Given the description of an element on the screen output the (x, y) to click on. 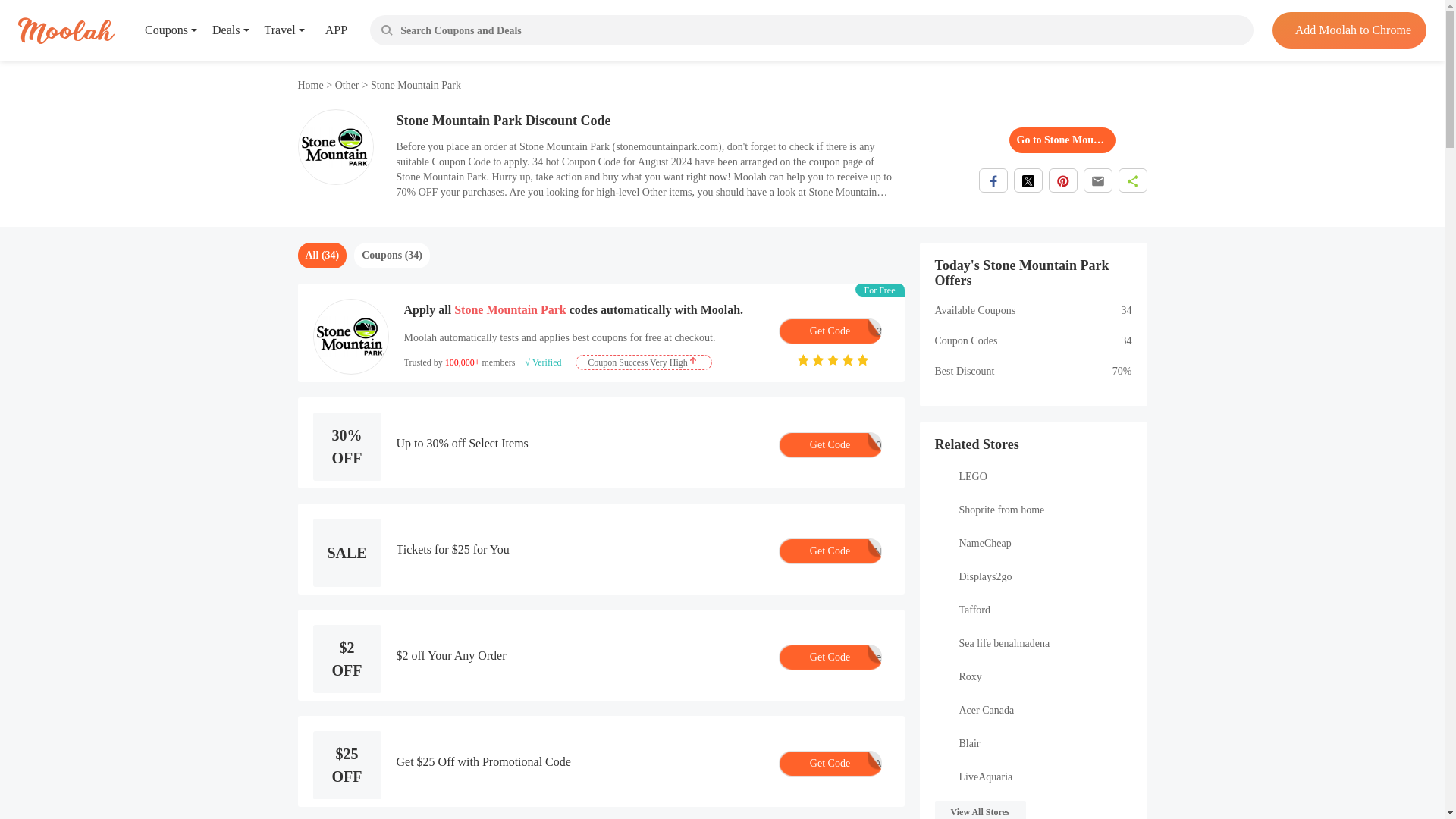
Other (346, 84)
Add Moolah to Chrome (1348, 30)
APP (324, 30)
Go to Stone Mountain Park (1061, 140)
Home (311, 84)
